Given the description of an element on the screen output the (x, y) to click on. 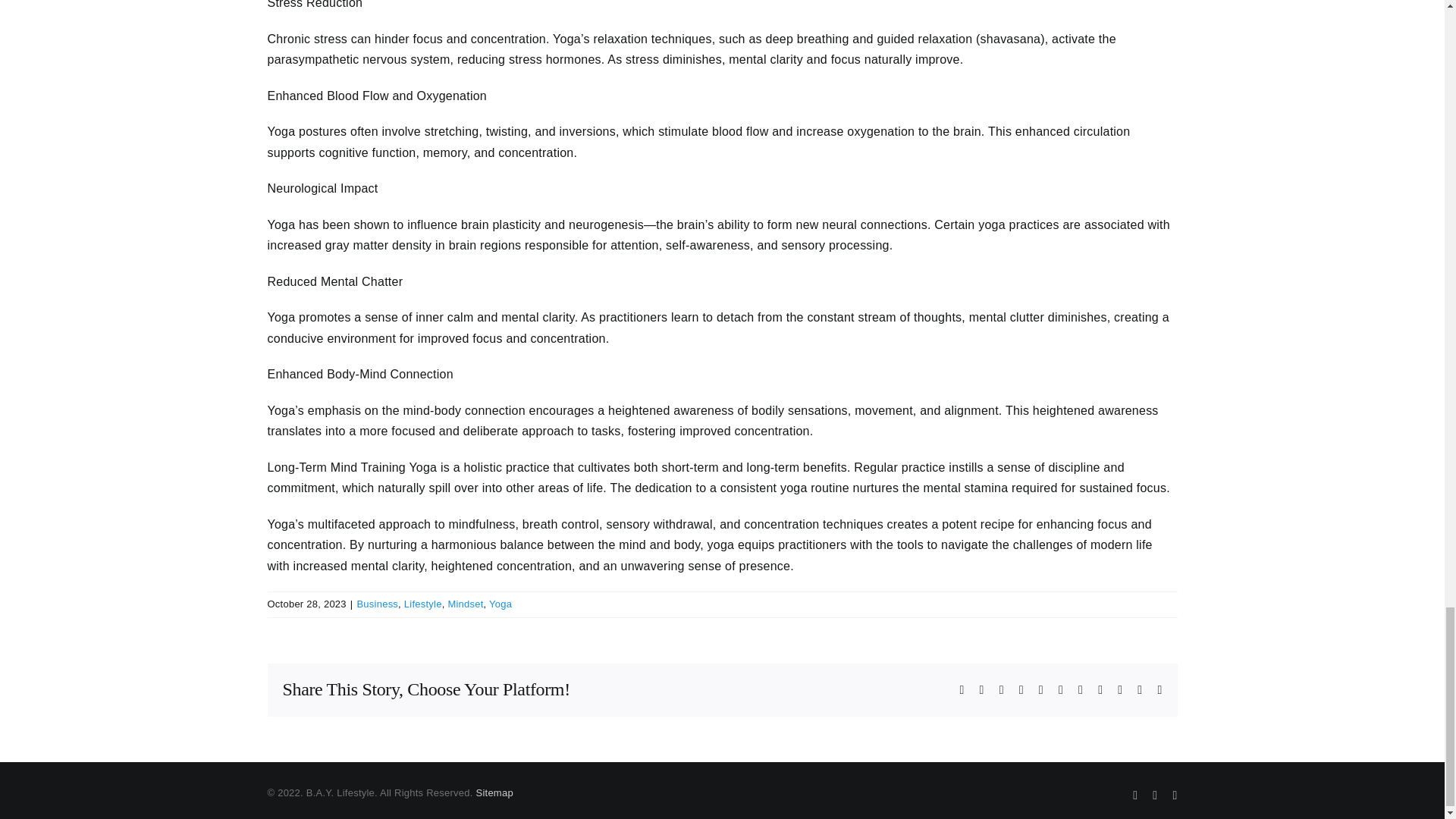
Business (376, 603)
Mindset (464, 603)
Sitemap (494, 792)
Yoga (500, 603)
Lifestyle (423, 603)
